Given the description of an element on the screen output the (x, y) to click on. 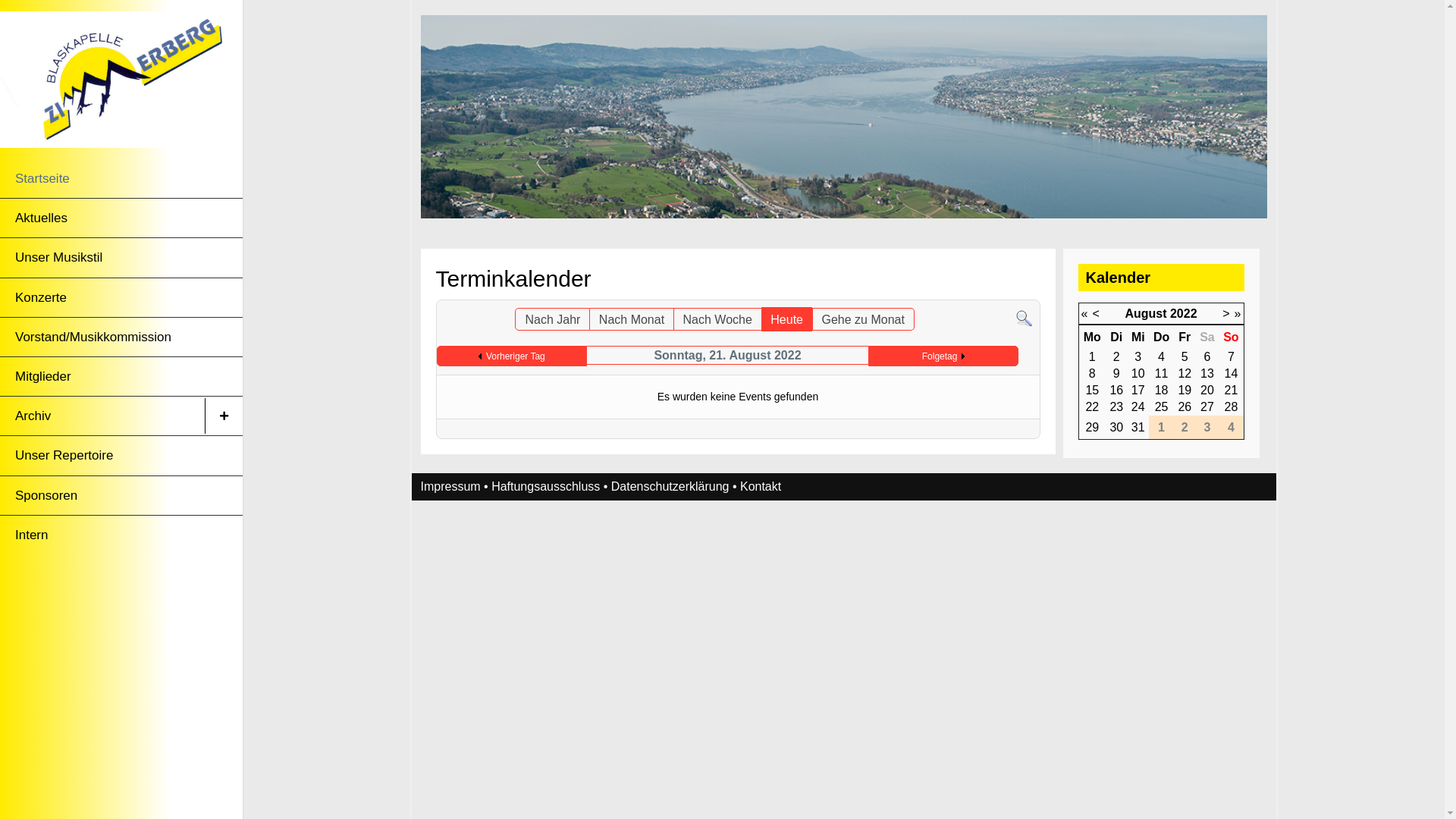
25 Element type: text (1161, 406)
31 Element type: text (1138, 426)
Aktuelles Element type: text (102, 217)
Gehe zu Monat Element type: text (862, 319)
10 Element type: text (1138, 373)
17 Element type: text (1138, 389)
Nach Monat Element type: text (631, 319)
Sponsoren Element type: text (102, 495)
27 Element type: text (1207, 406)
23 Element type: text (1116, 406)
30 Element type: text (1116, 426)
Konzerte Element type: text (102, 297)
Archiv Element type: text (102, 415)
Unser Repertoire Element type: text (102, 455)
12 Element type: text (1184, 373)
8 Element type: text (1091, 373)
15 Element type: text (1091, 389)
11 Element type: text (1161, 373)
29 Element type: text (1091, 426)
7 Element type: text (1230, 356)
5 Element type: text (1184, 356)
3 Element type: text (1137, 356)
Impressum Element type: text (450, 486)
26 Element type: text (1184, 406)
14 Element type: text (1231, 373)
24 Element type: text (1138, 406)
1 Element type: text (1091, 356)
2 Element type: text (1116, 356)
Vorheriger Tag Element type: text (511, 356)
2022 Element type: text (1183, 313)
21 Element type: text (1231, 389)
28 Element type: text (1231, 406)
Vorstand/Musikkommission Element type: text (102, 336)
Startseite Element type: text (102, 178)
16 Element type: text (1116, 389)
August Element type: text (1145, 313)
20 Element type: text (1207, 389)
Kontakt Element type: text (760, 486)
Mitglieder Element type: text (102, 376)
Heute Element type: text (786, 319)
18 Element type: text (1161, 389)
4 Element type: text (1160, 356)
Nach Jahr Element type: text (552, 319)
Haftungsausschluss Element type: text (545, 486)
Intern Element type: text (102, 534)
Unser Musikstil Element type: text (102, 257)
19 Element type: text (1184, 389)
9 Element type: text (1116, 373)
6 Element type: text (1206, 356)
Nach Woche Element type: text (717, 319)
13 Element type: text (1207, 373)
22 Element type: text (1091, 406)
Folgetag Element type: text (943, 356)
Suche Element type: hover (1024, 317)
